Given the description of an element on the screen output the (x, y) to click on. 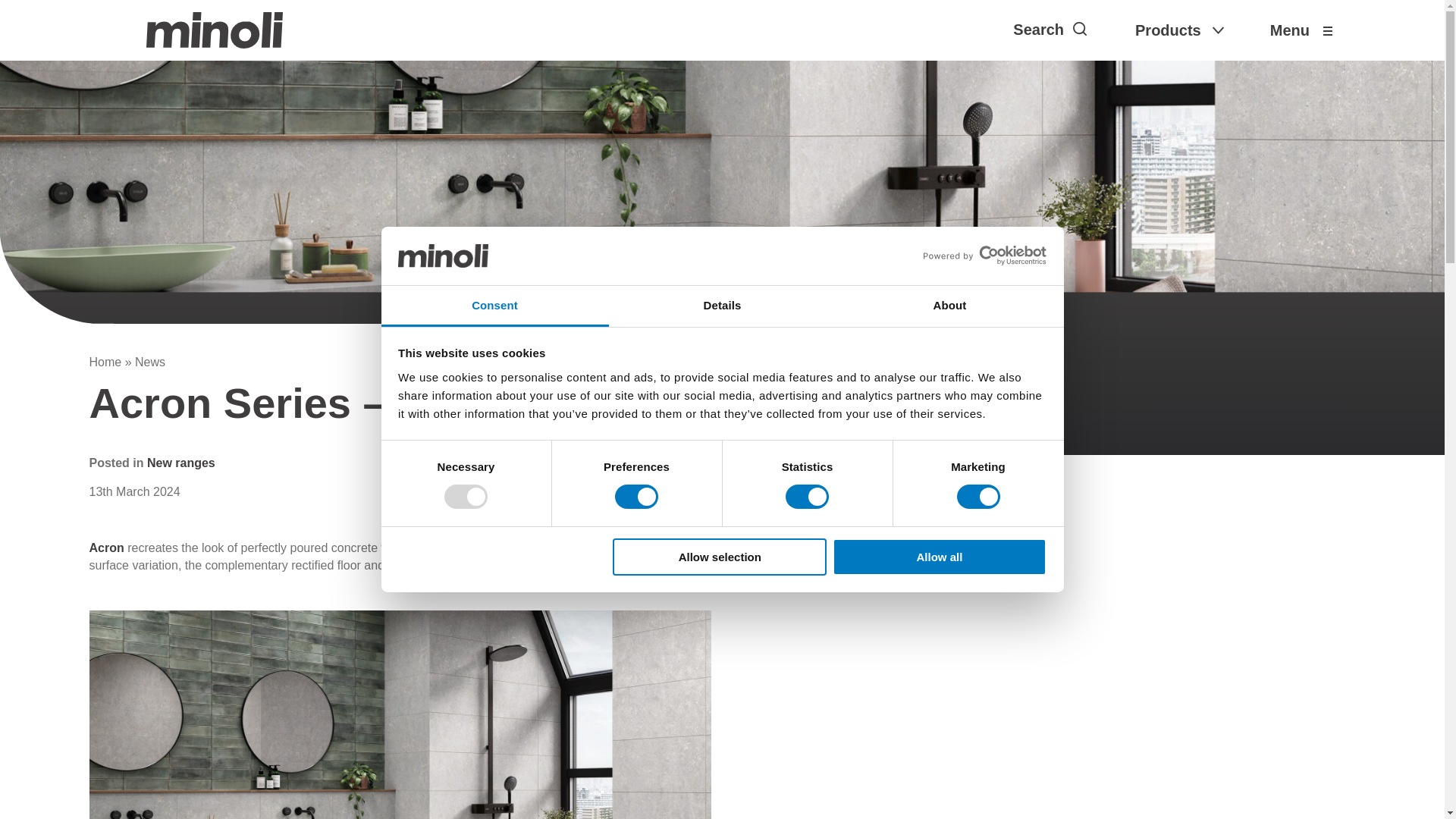
Allow selection (719, 556)
Allow all (939, 556)
Consent (494, 305)
Details (721, 305)
About (948, 305)
